Given the description of an element on the screen output the (x, y) to click on. 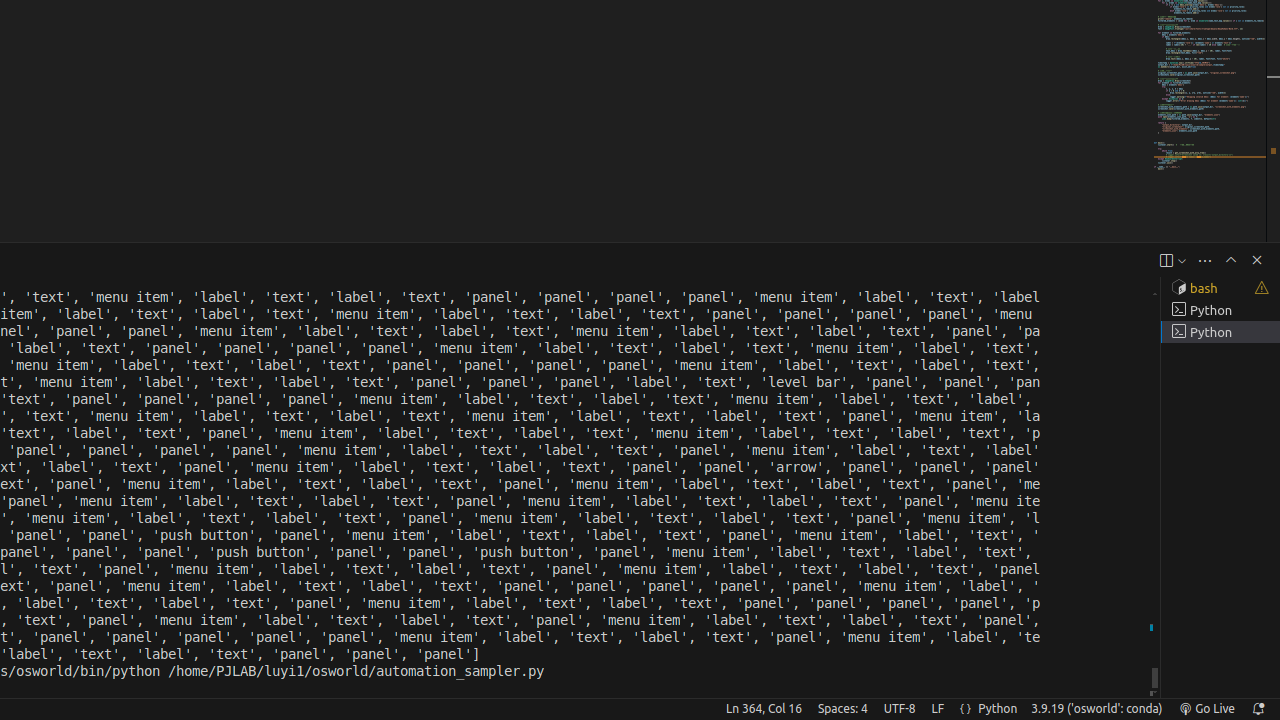
LF Element type: push-button (938, 709)
Spaces: 4 Element type: push-button (842, 709)
Ln 364, Col 16 Element type: push-button (764, 709)
Terminal 5 Python Element type: list-item (1220, 332)
Terminal 2 Python Element type: list-item (1220, 310)
